Given the description of an element on the screen output the (x, y) to click on. 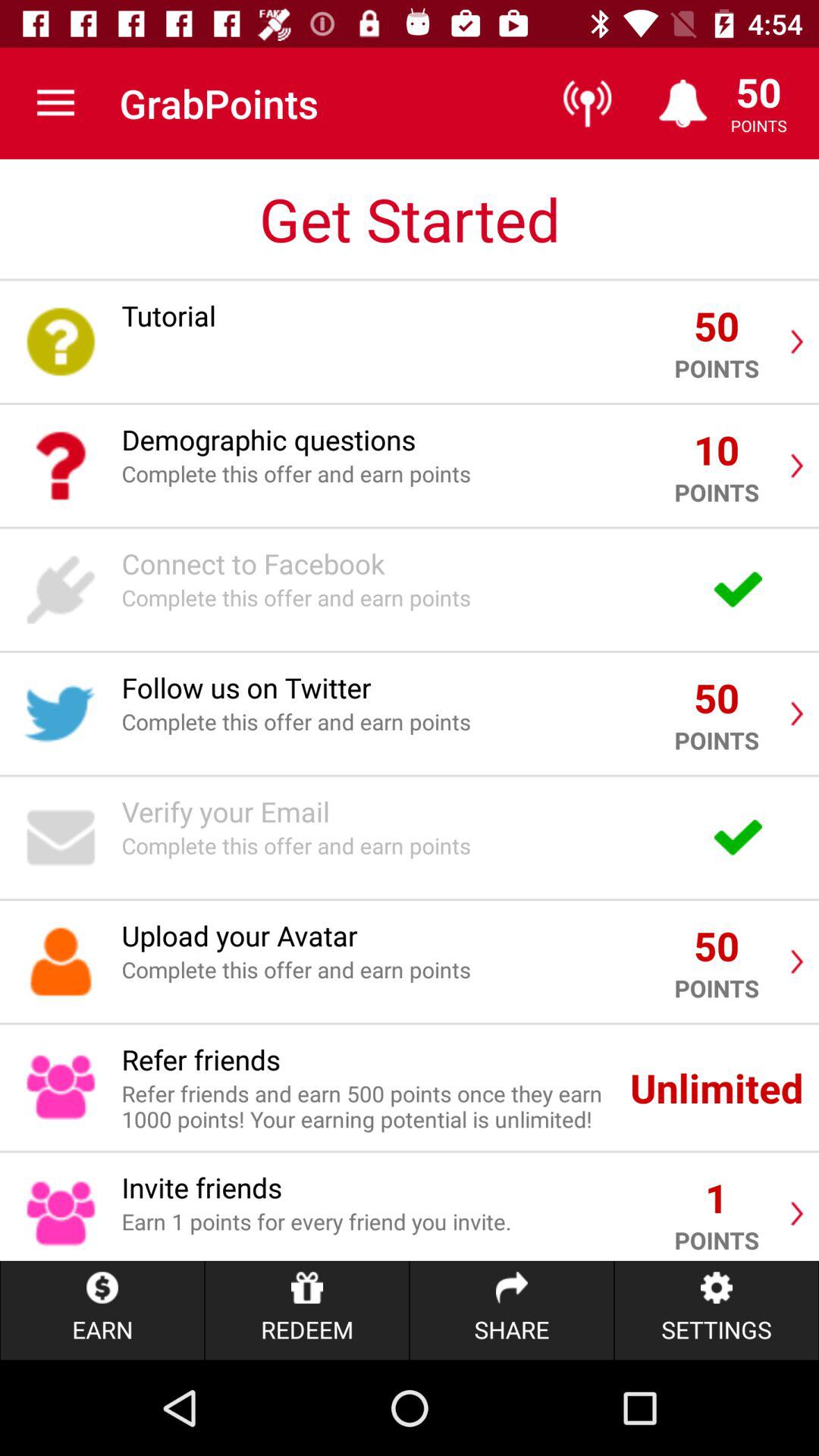
choose icon to the left of the settings item (511, 1310)
